Given the description of an element on the screen output the (x, y) to click on. 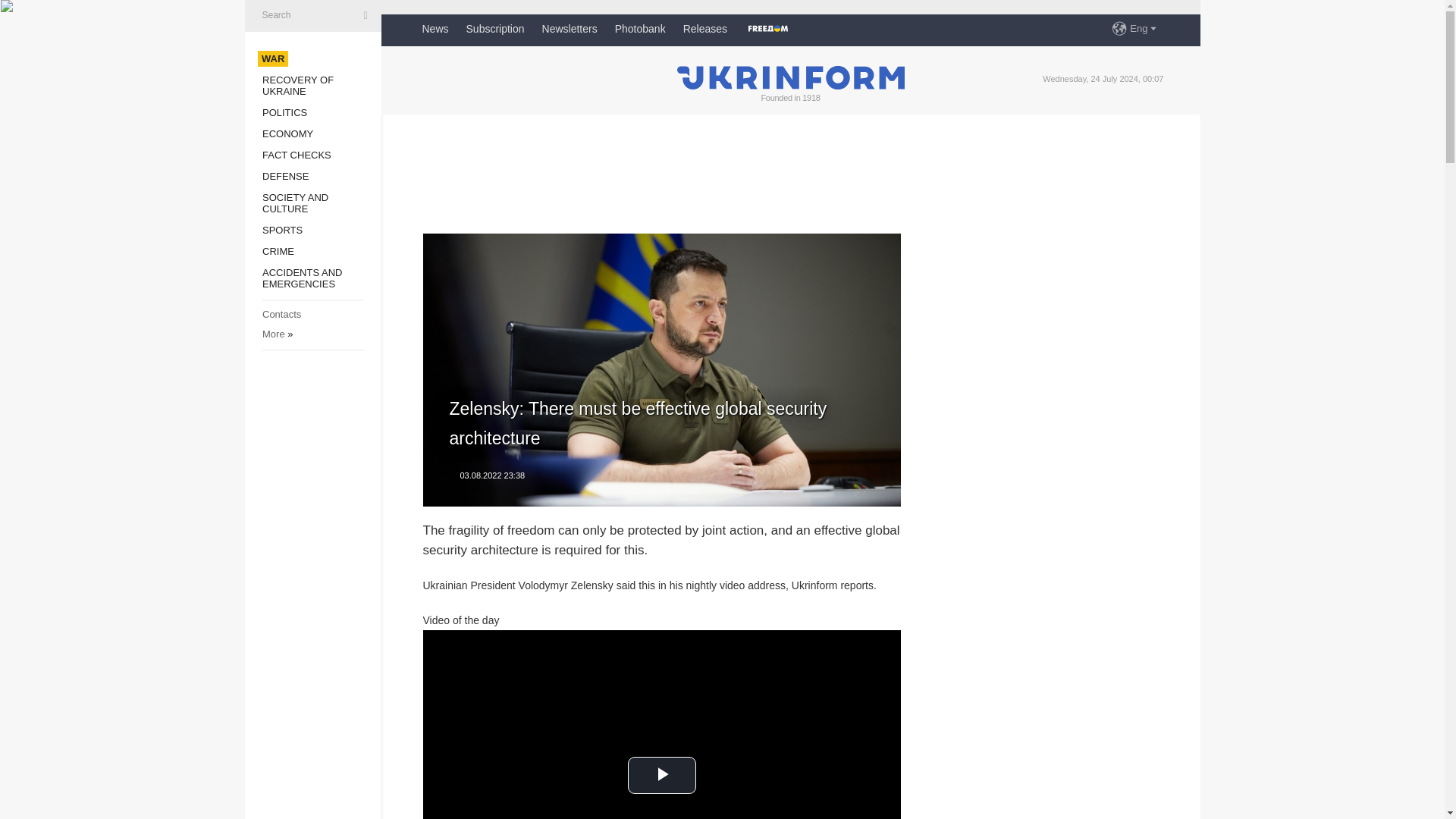
Newsletters (568, 28)
ECONOMY (287, 133)
DEFENSE (285, 175)
FreeDOM (767, 28)
Eng (1143, 28)
News (435, 28)
SOCIETY AND CULTURE (295, 202)
Subscription (494, 28)
POLITICS (284, 112)
Contacts (281, 314)
ACCIDENTS AND EMERGENCIES (302, 277)
SPORTS (282, 229)
Play Video (661, 774)
Photobank (639, 28)
WAR (272, 58)
